Given the description of an element on the screen output the (x, y) to click on. 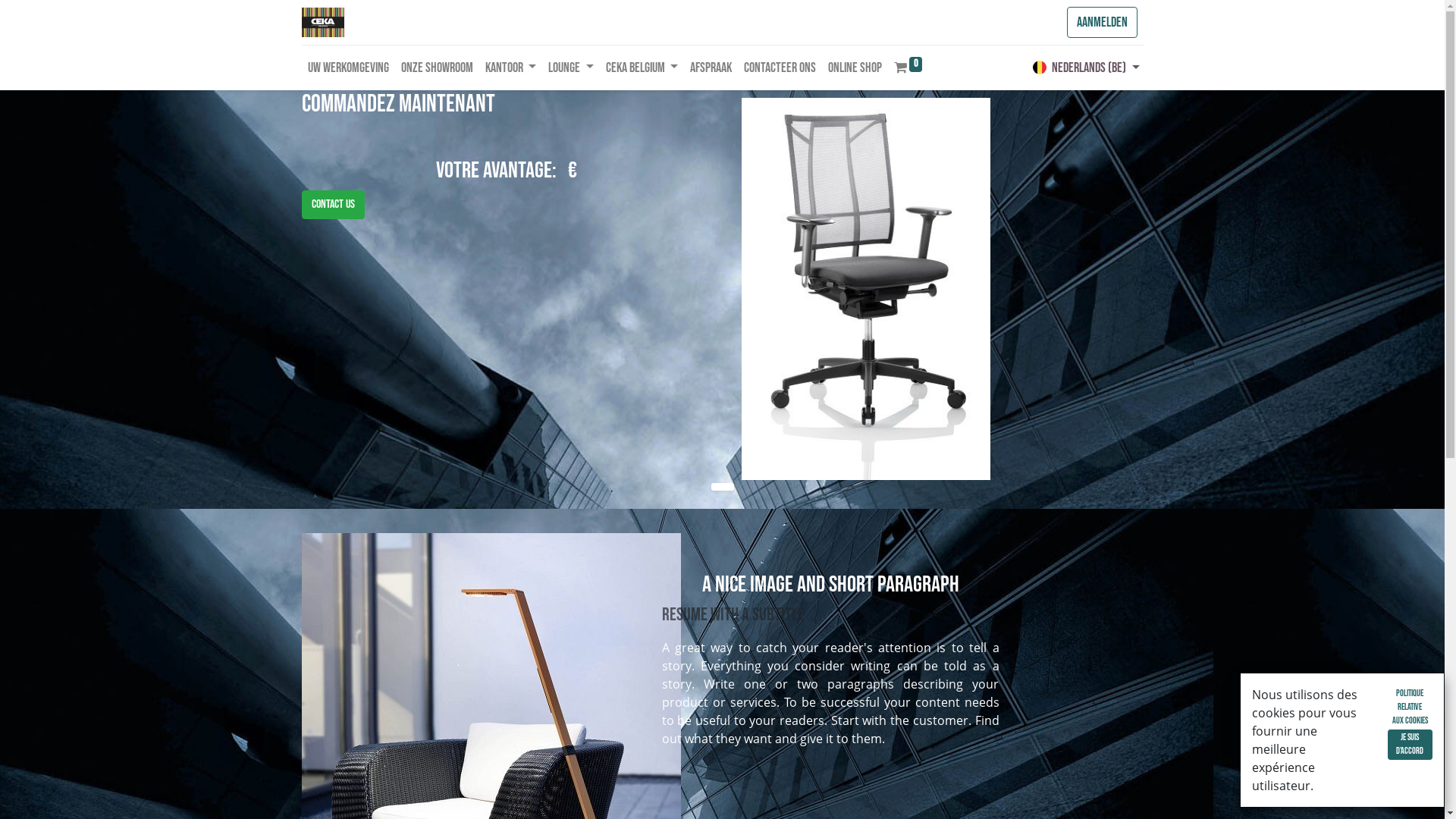
Nederlands (BE) Element type: text (1085, 67)
Uw werkomgeving Element type: text (348, 67)
KANTOOR Element type: text (510, 67)
Aanmelden Element type: text (1101, 21)
CEKA Belgium Element type: hover (323, 22)
Online shop Element type: text (855, 67)
Je suis d'accord Element type: text (1409, 744)
CEKA BELGIUM Element type: text (641, 67)
Afspraak Element type: text (710, 67)
CONTACTEER ONS Element type: text (779, 67)
LOUNGE Element type: text (570, 67)
Onze Showroom Element type: text (436, 67)
Contact us Element type: text (332, 204)
Politique relative aux cookies Element type: text (1409, 707)
0 Element type: text (908, 67)
